Given the description of an element on the screen output the (x, y) to click on. 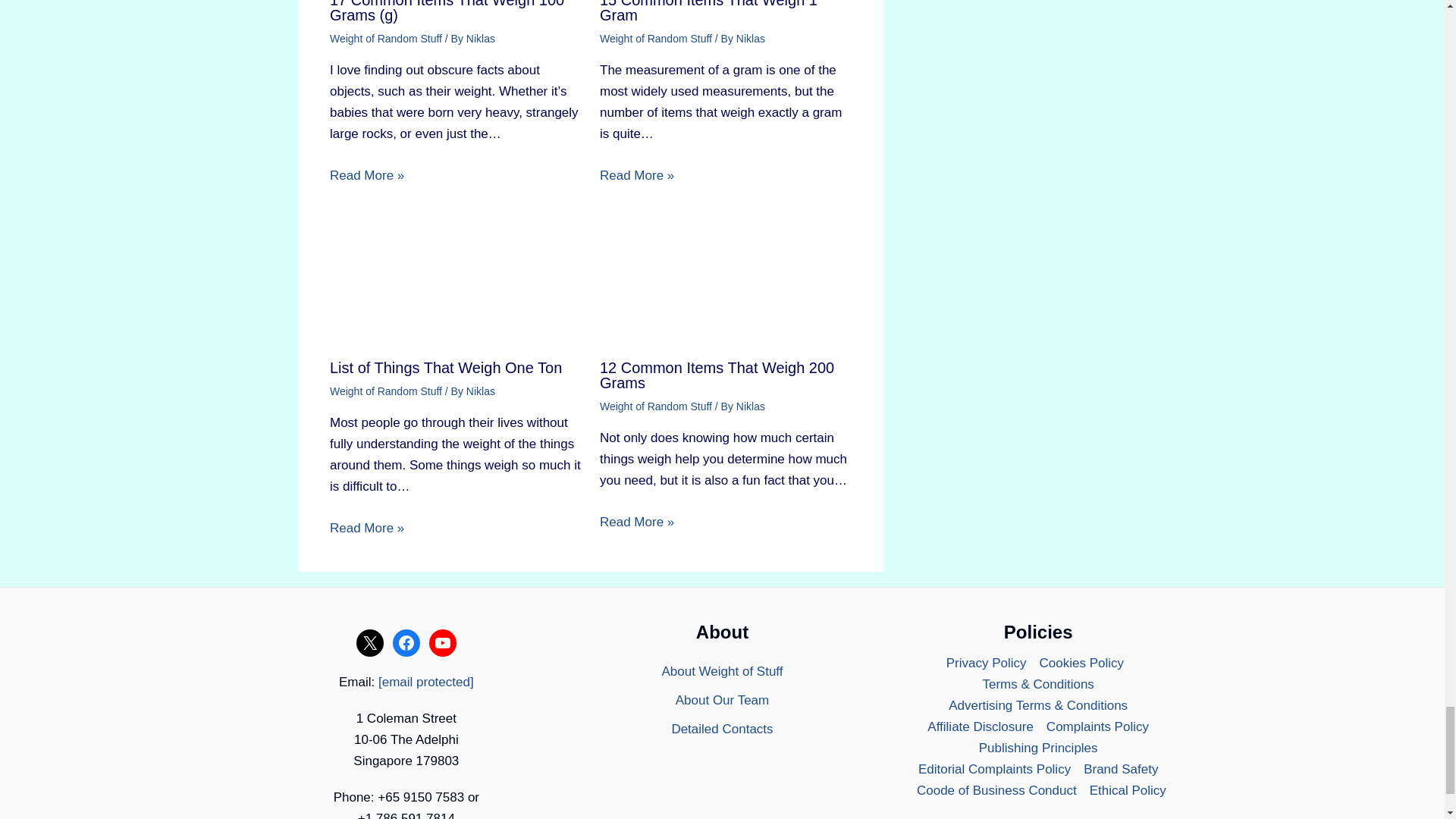
View all posts by Niklas (750, 38)
View all posts by Niklas (480, 390)
View all posts by Niklas (480, 38)
View all posts by Niklas (750, 406)
